Given the description of an element on the screen output the (x, y) to click on. 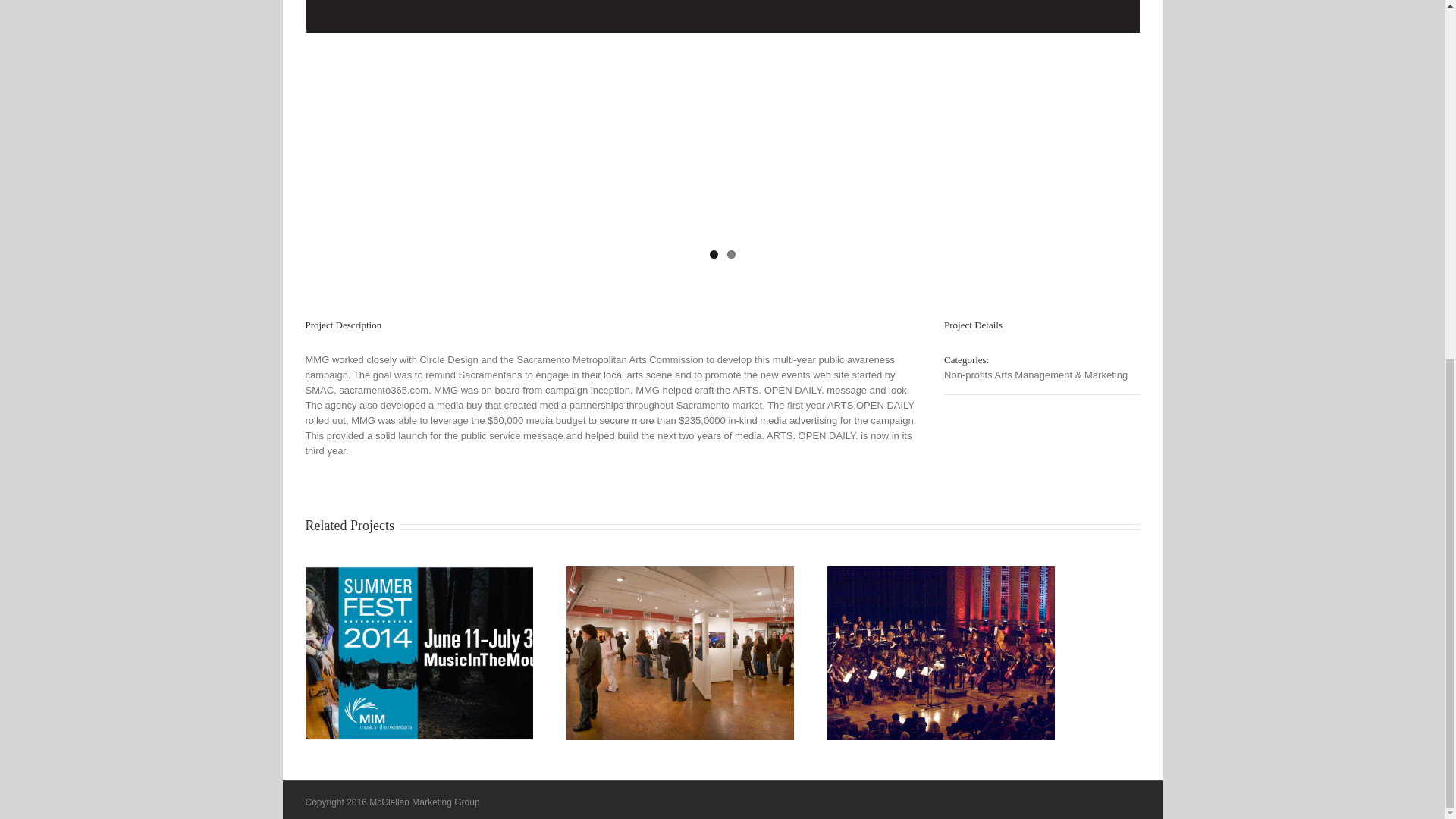
2 (730, 254)
1 (713, 254)
